Given the description of an element on the screen output the (x, y) to click on. 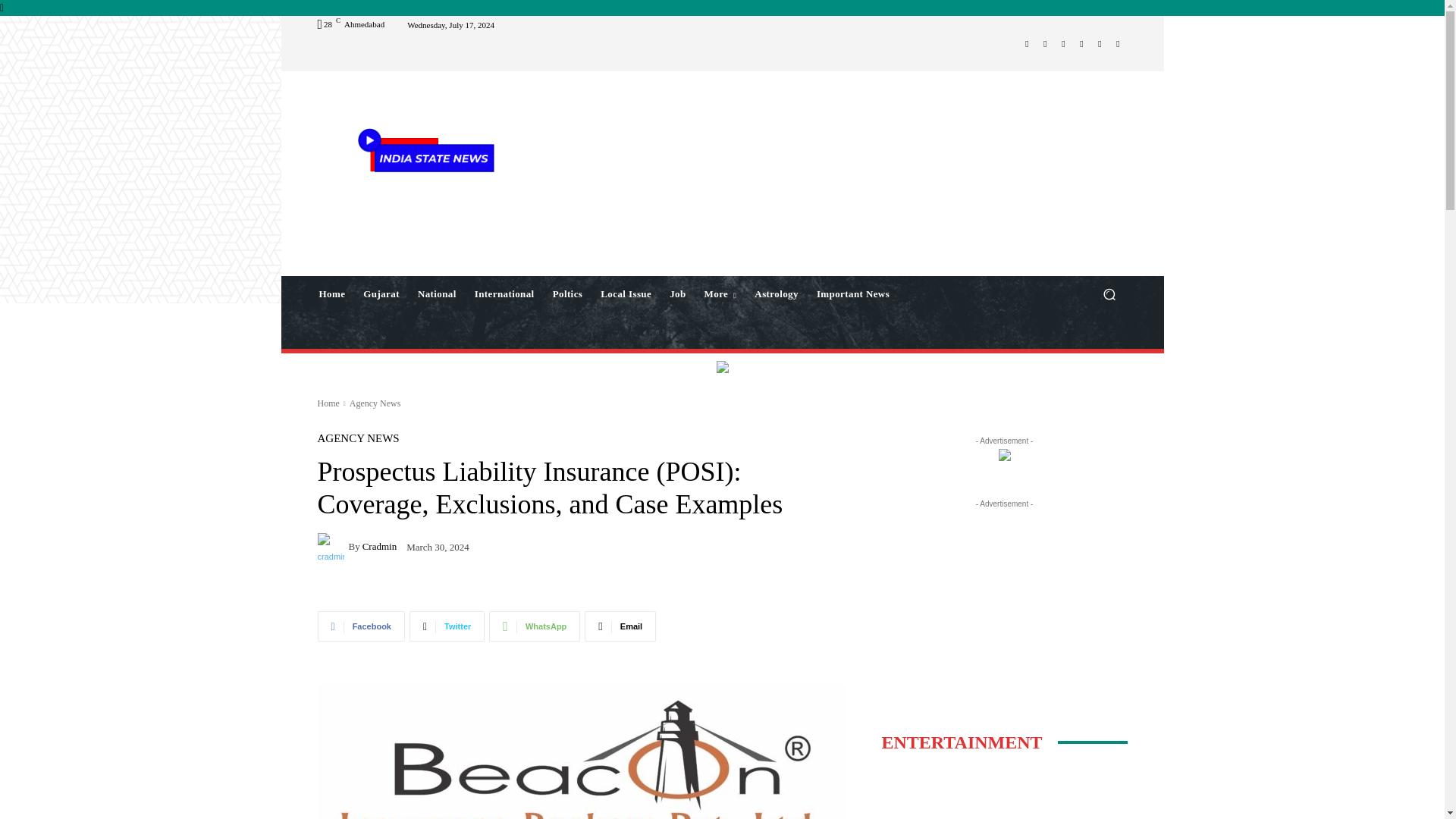
WhatsApp (1099, 44)
Facebook (1026, 44)
Twitter (1080, 44)
Mail (1062, 44)
ads (722, 367)
Youtube (1117, 44)
Instagram (1044, 44)
